Given the description of an element on the screen output the (x, y) to click on. 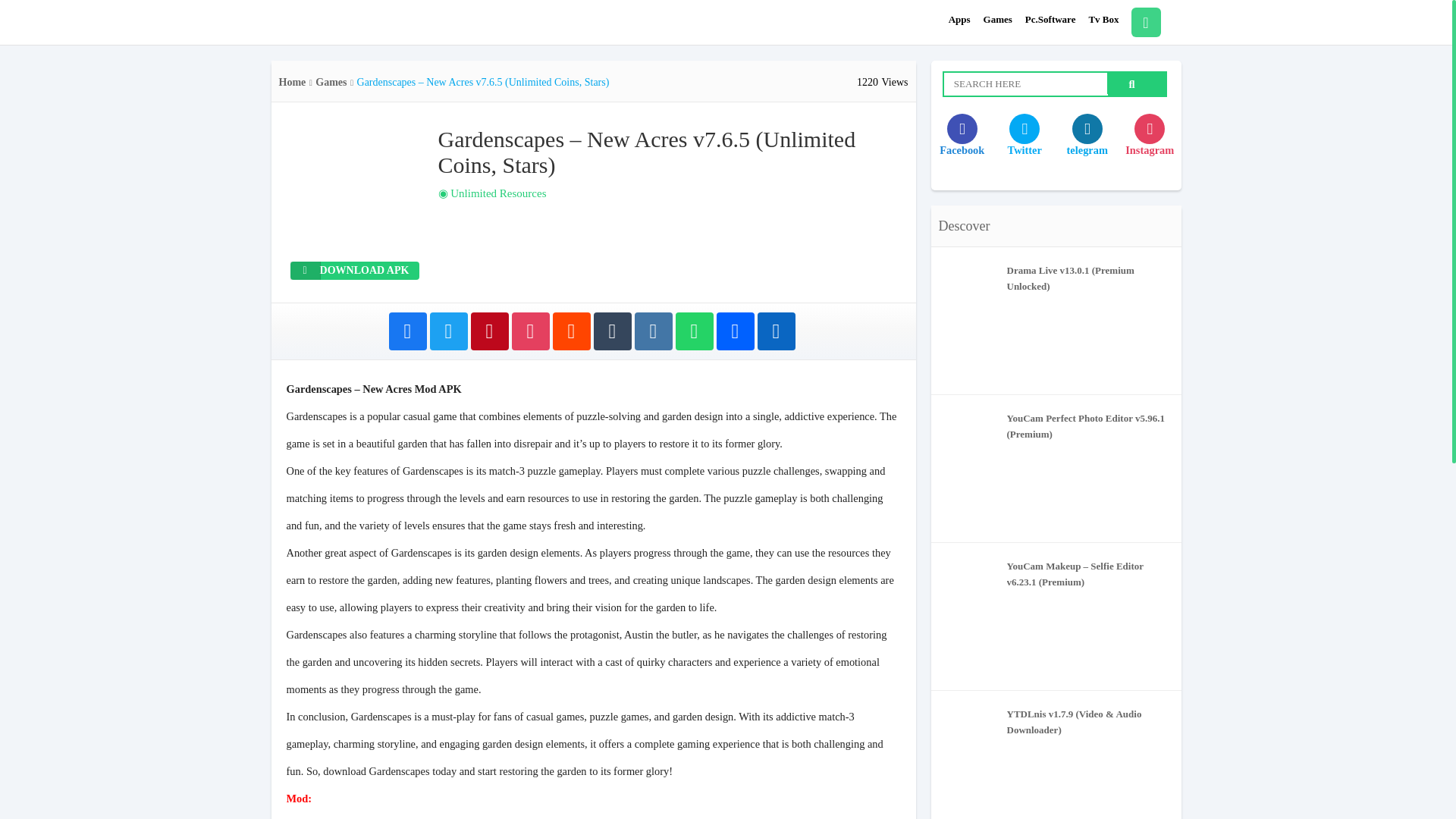
DOWNLOAD APK (354, 270)
Home (292, 81)
Games (330, 81)
Tv Box (1102, 19)
Pc.Software (1050, 19)
Games (997, 19)
Apps (960, 19)
